Given the description of an element on the screen output the (x, y) to click on. 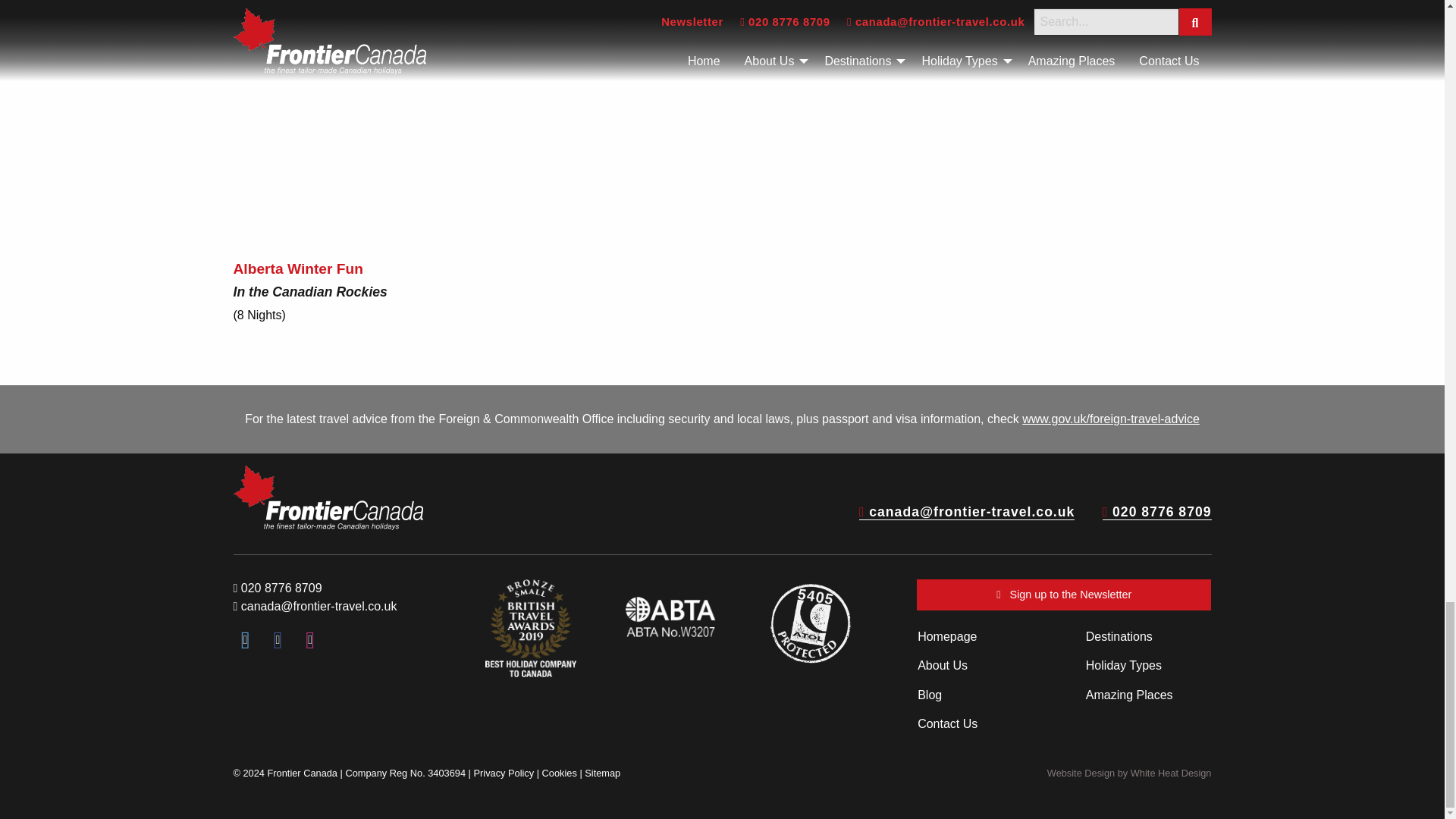
Frontier Canada (327, 497)
